Given the description of an element on the screen output the (x, y) to click on. 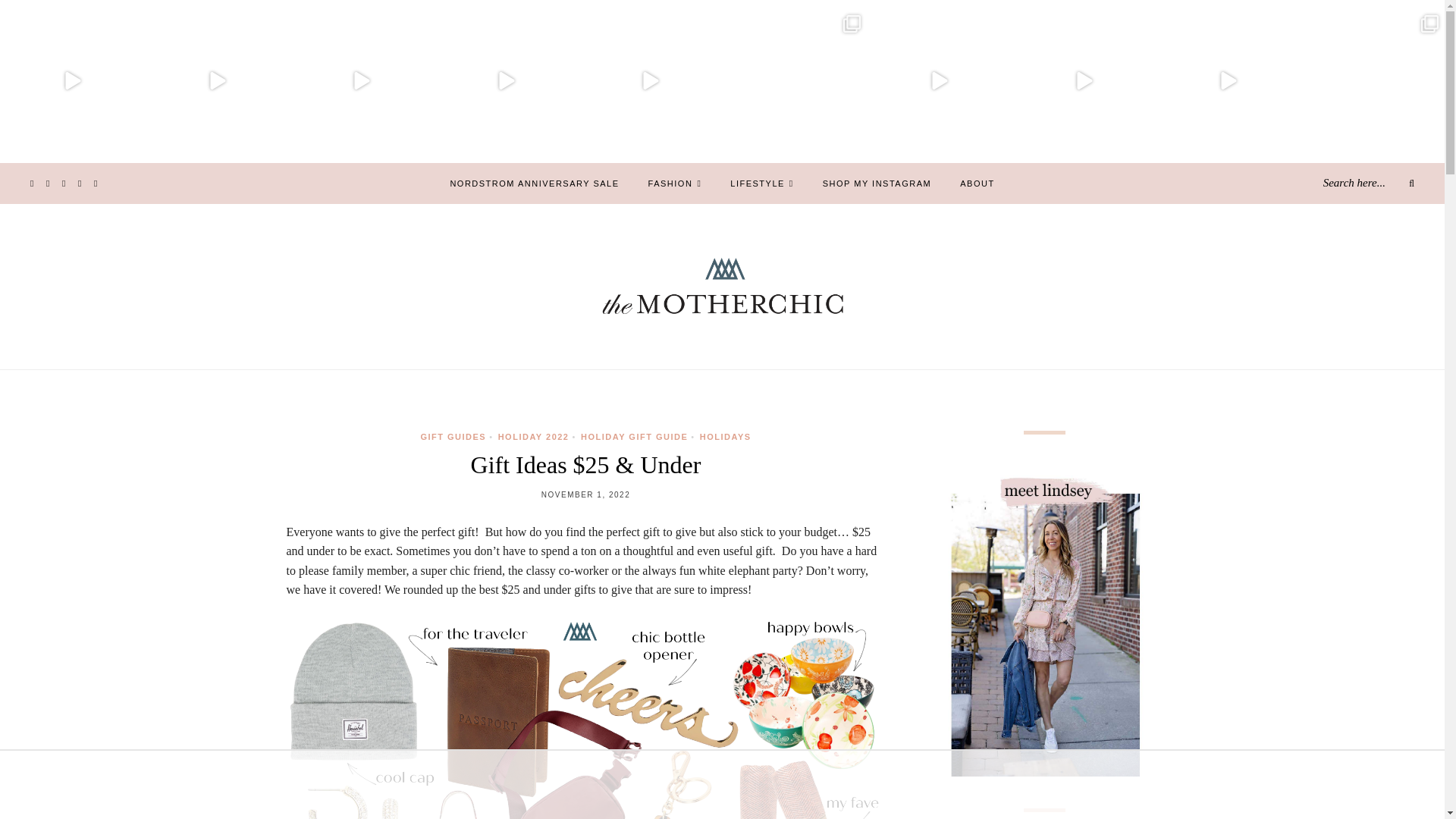
FASHION (674, 183)
NORDSTROM ANNIVERSARY SALE (533, 183)
